Given the description of an element on the screen output the (x, y) to click on. 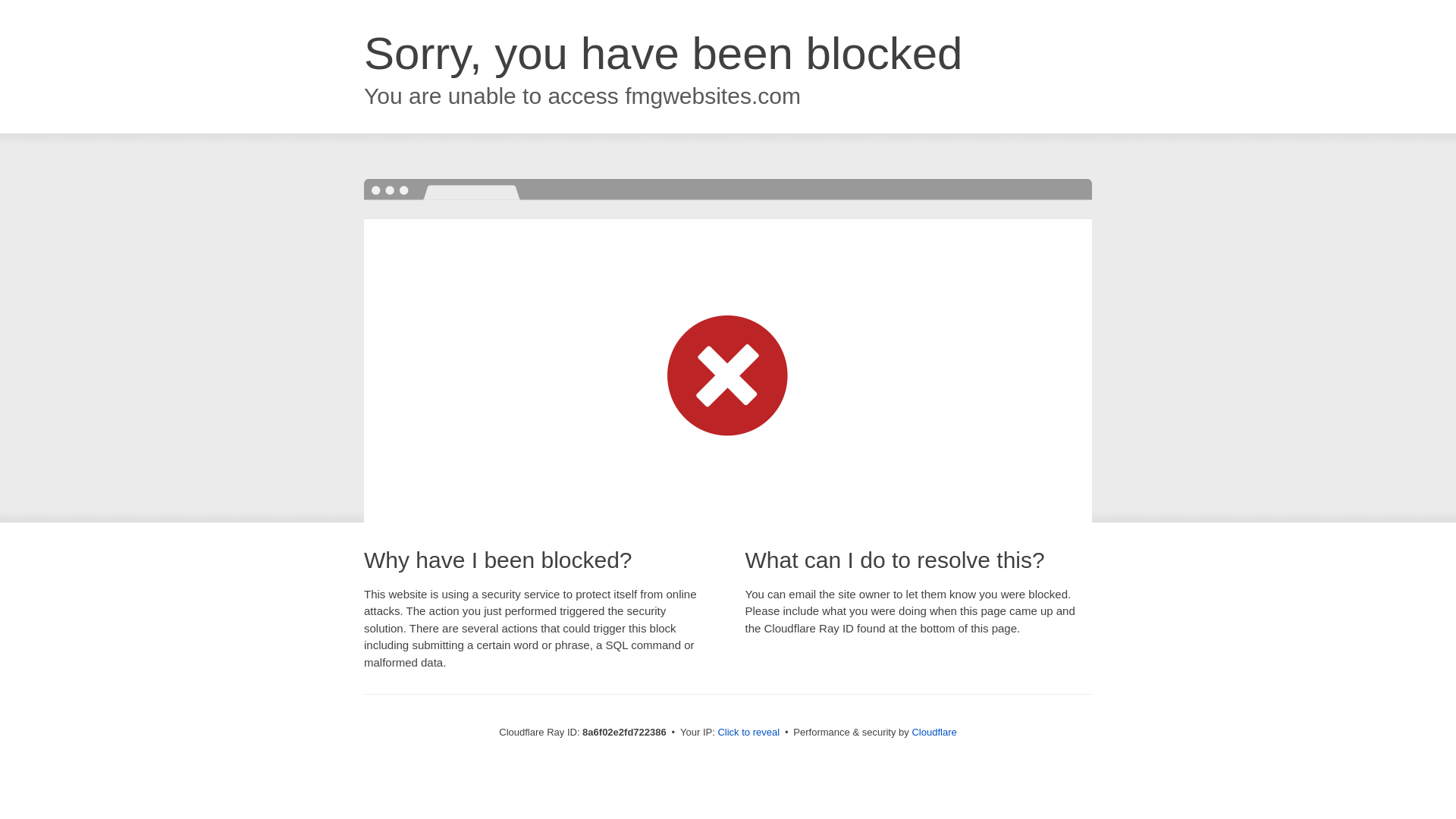
Cloudflare (933, 731)
Click to reveal (747, 732)
